Given the description of an element on the screen output the (x, y) to click on. 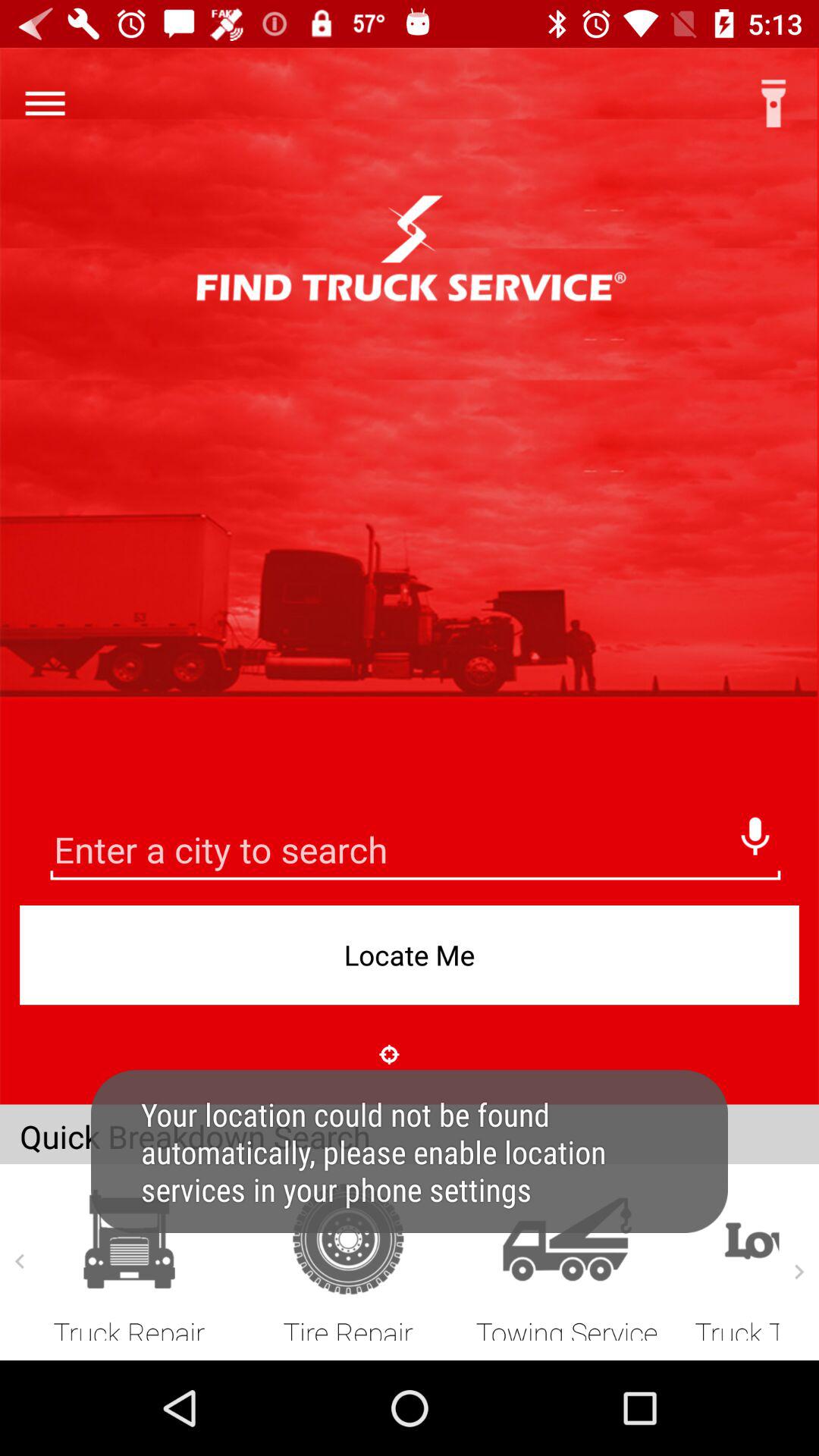
select voice recording (755, 832)
